Given the description of an element on the screen output the (x, y) to click on. 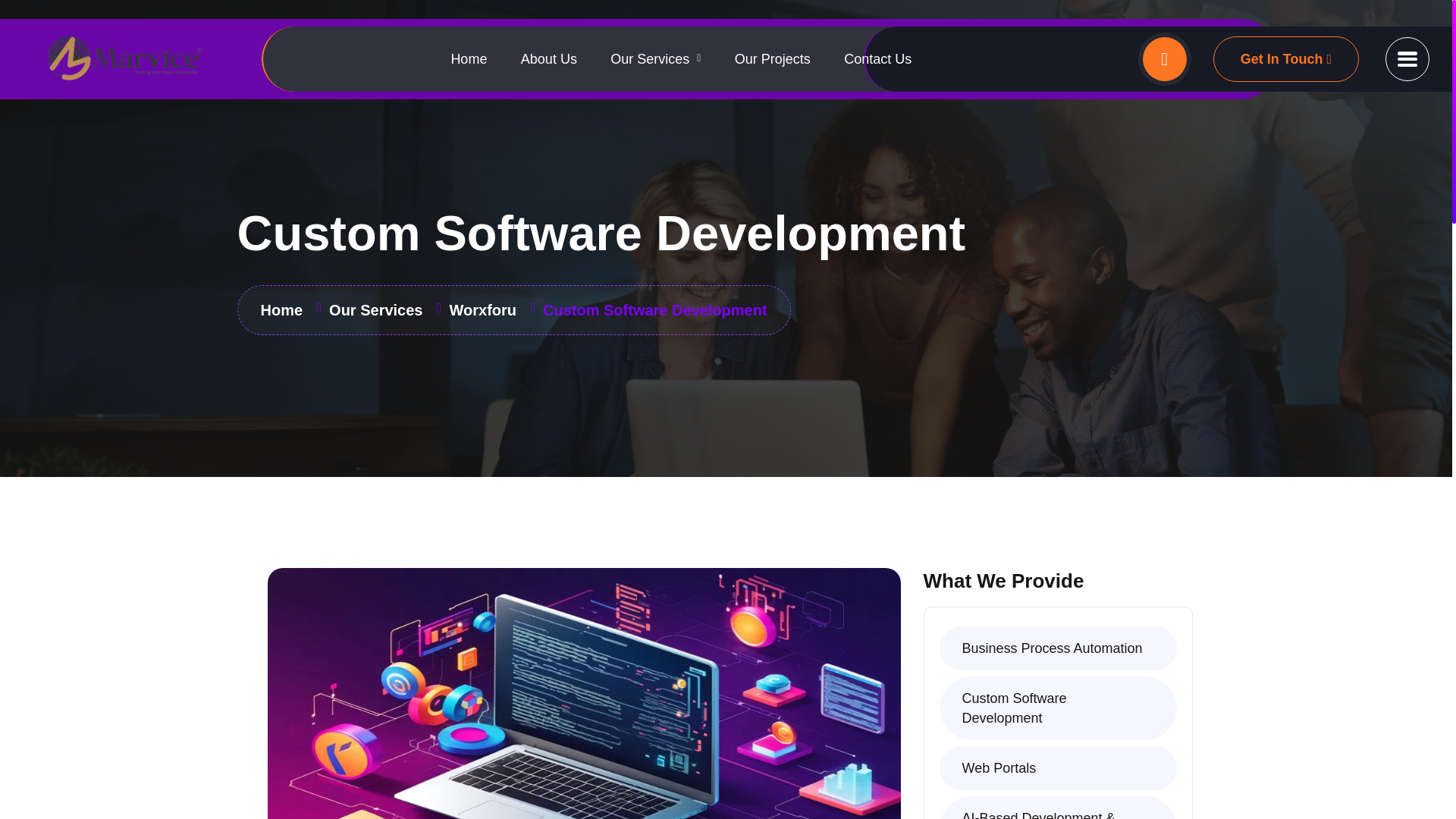
Our Projects (772, 58)
Contact Us (877, 58)
Get In Touch (1285, 58)
Our Services (655, 58)
